Given the description of an element on the screen output the (x, y) to click on. 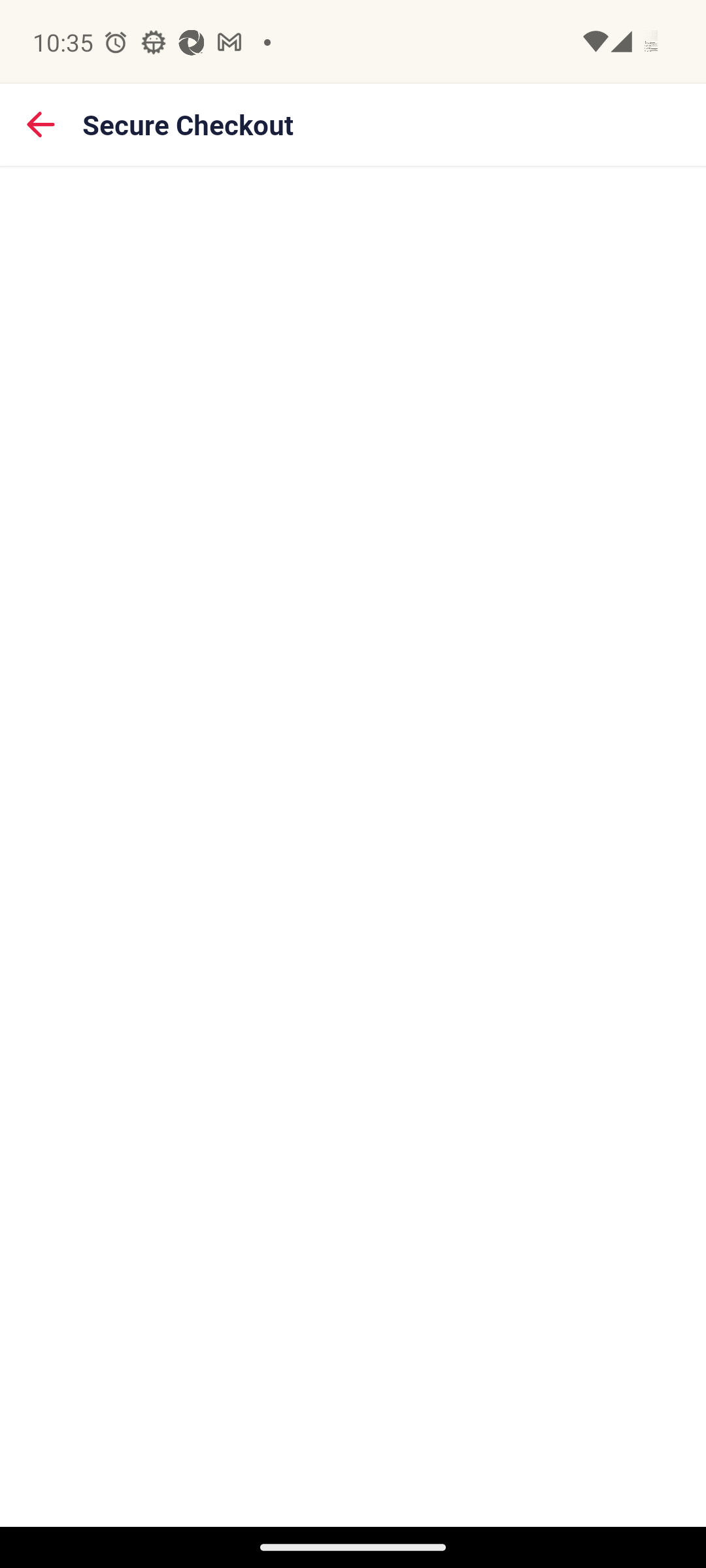
Back (41, 124)
